Given the description of an element on the screen output the (x, y) to click on. 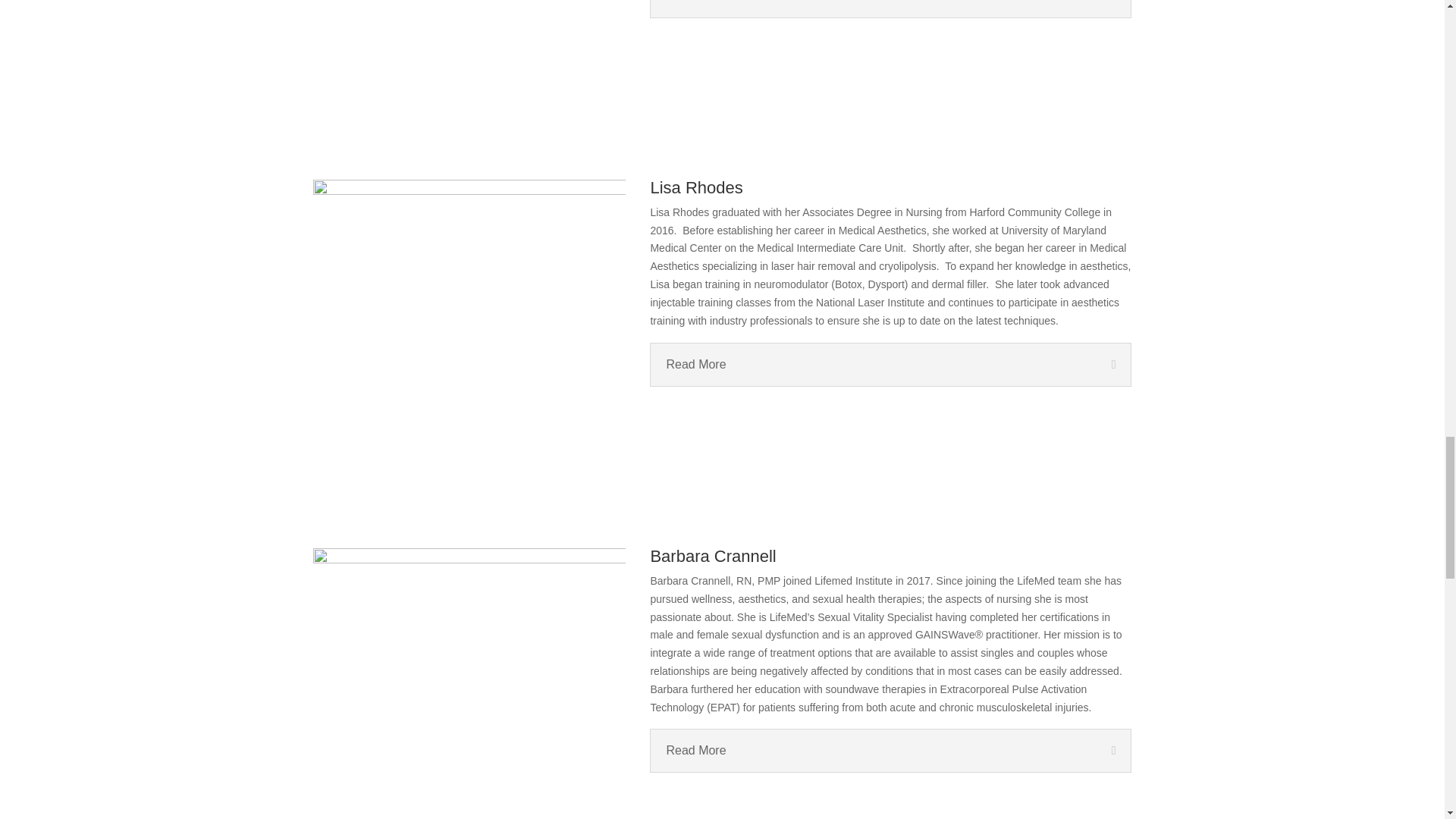
verbus (469, 61)
carnell (469, 683)
rhodes (469, 334)
